Given the description of an element on the screen output the (x, y) to click on. 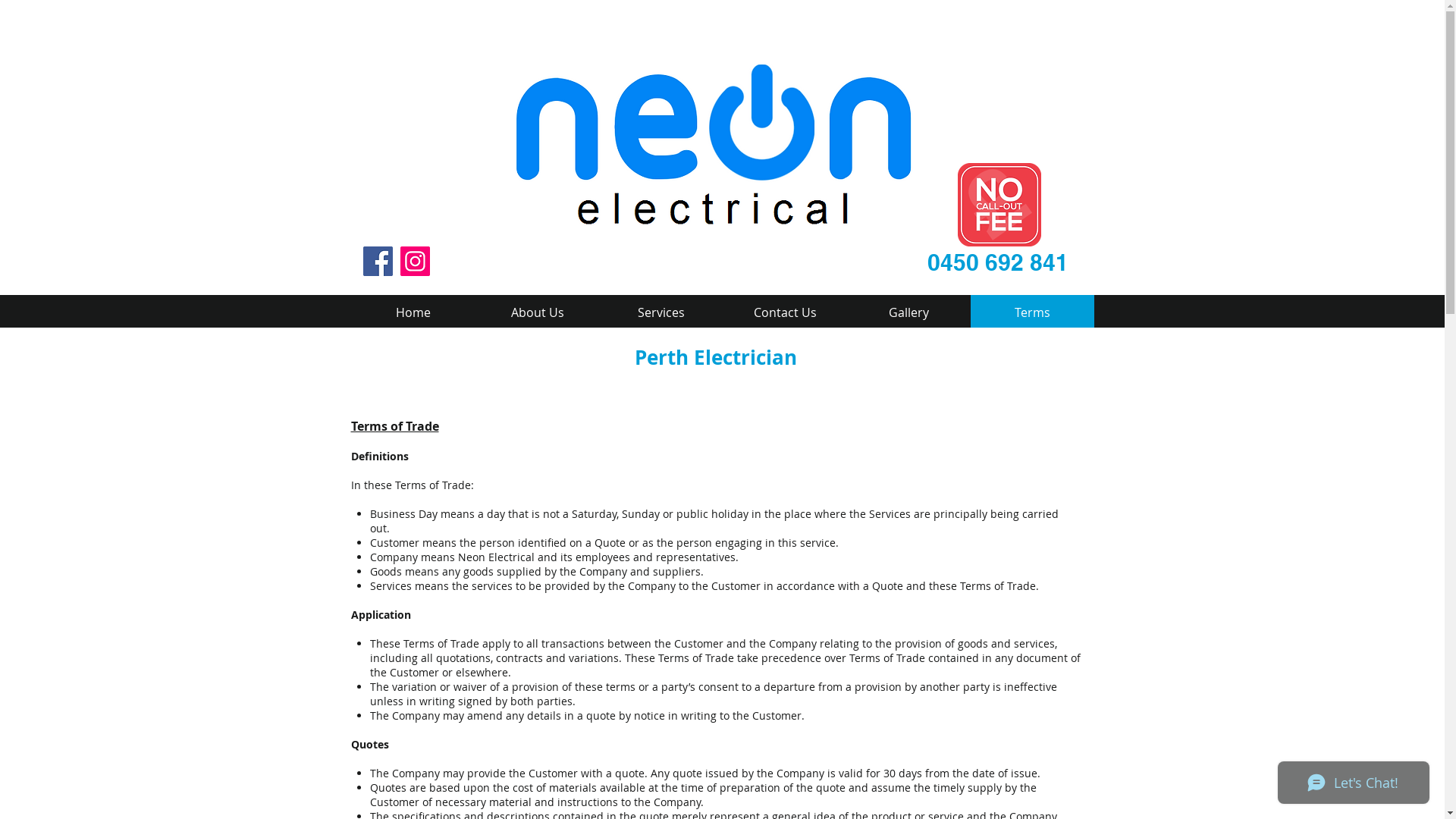
Home Element type: text (412, 312)
About Us Element type: text (536, 312)
Terms Element type: text (1032, 312)
Contact Us Element type: text (785, 312)
Gallery Element type: text (907, 312)
